Given the description of an element on the screen output the (x, y) to click on. 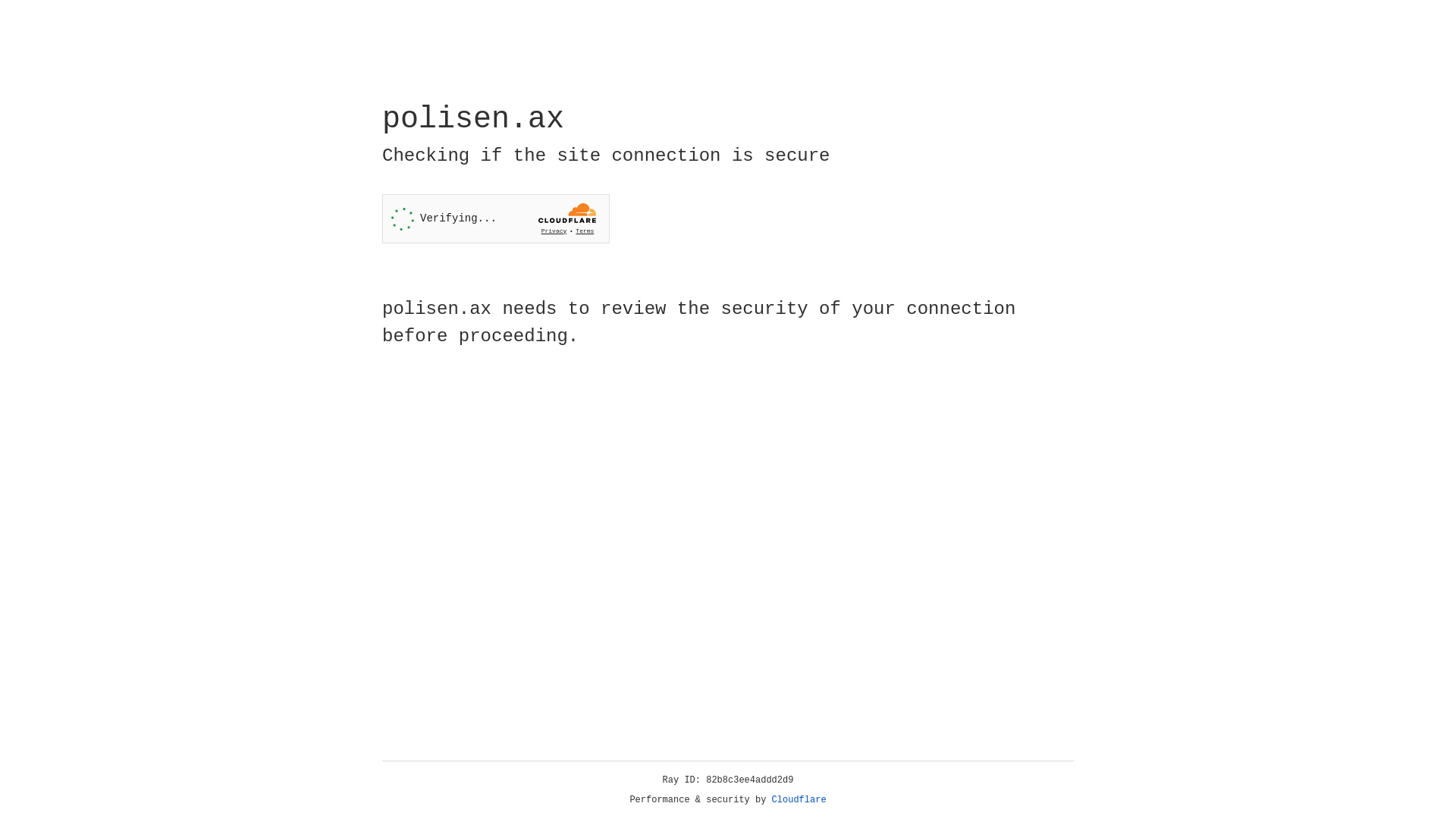
Widget containing a Cloudflare security challenge Element type: hover (495, 218)
Cloudflare Element type: text (798, 799)
